Given the description of an element on the screen output the (x, y) to click on. 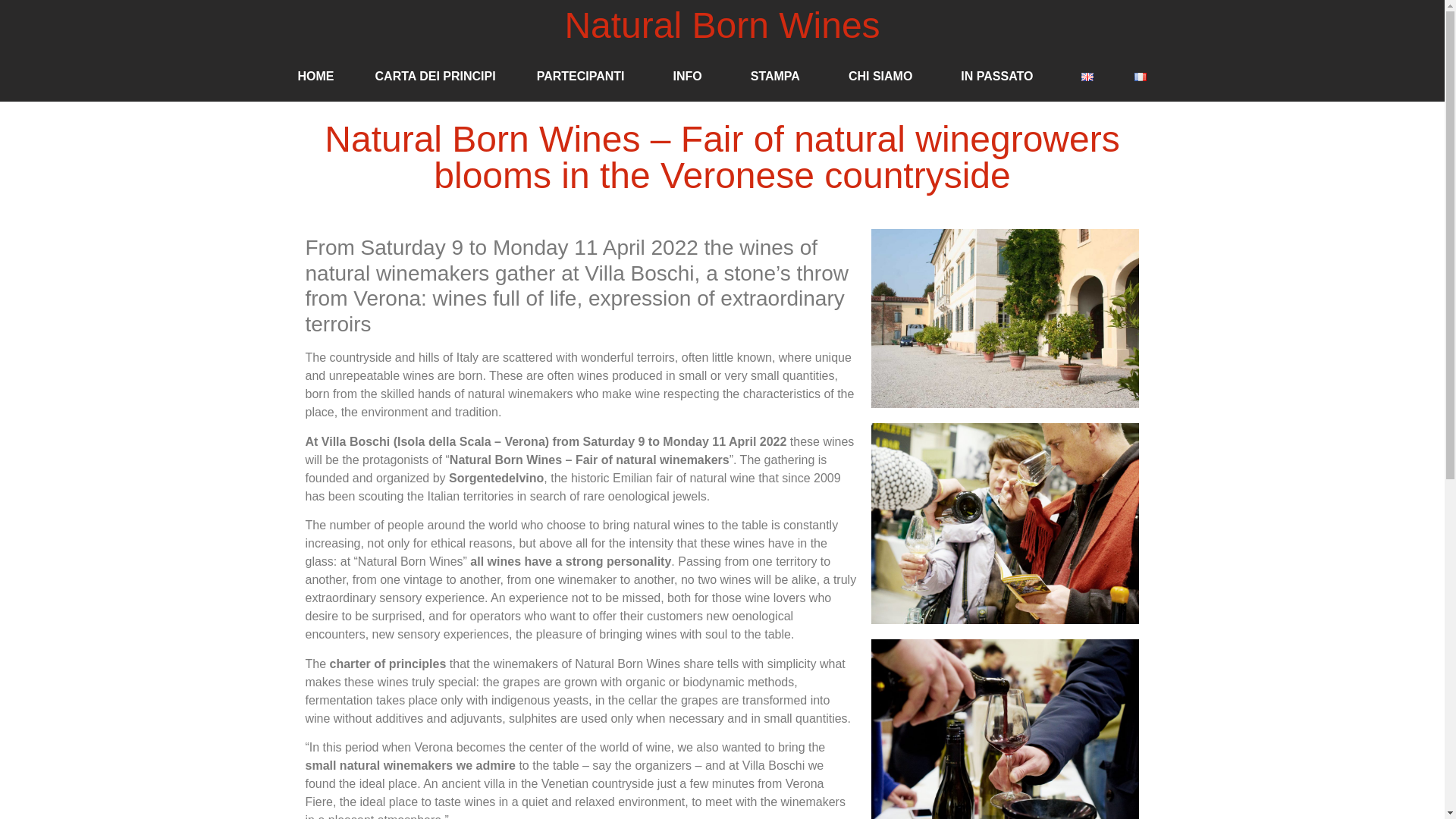
Natural Born Wines (721, 24)
PARTECIPANTI (584, 76)
IN PASSATO (1000, 76)
INFO (690, 76)
HOME (316, 76)
CHI SIAMO (884, 76)
STAMPA (779, 76)
CARTA DEI PRINCIPI (435, 76)
